Given the description of an element on the screen output the (x, y) to click on. 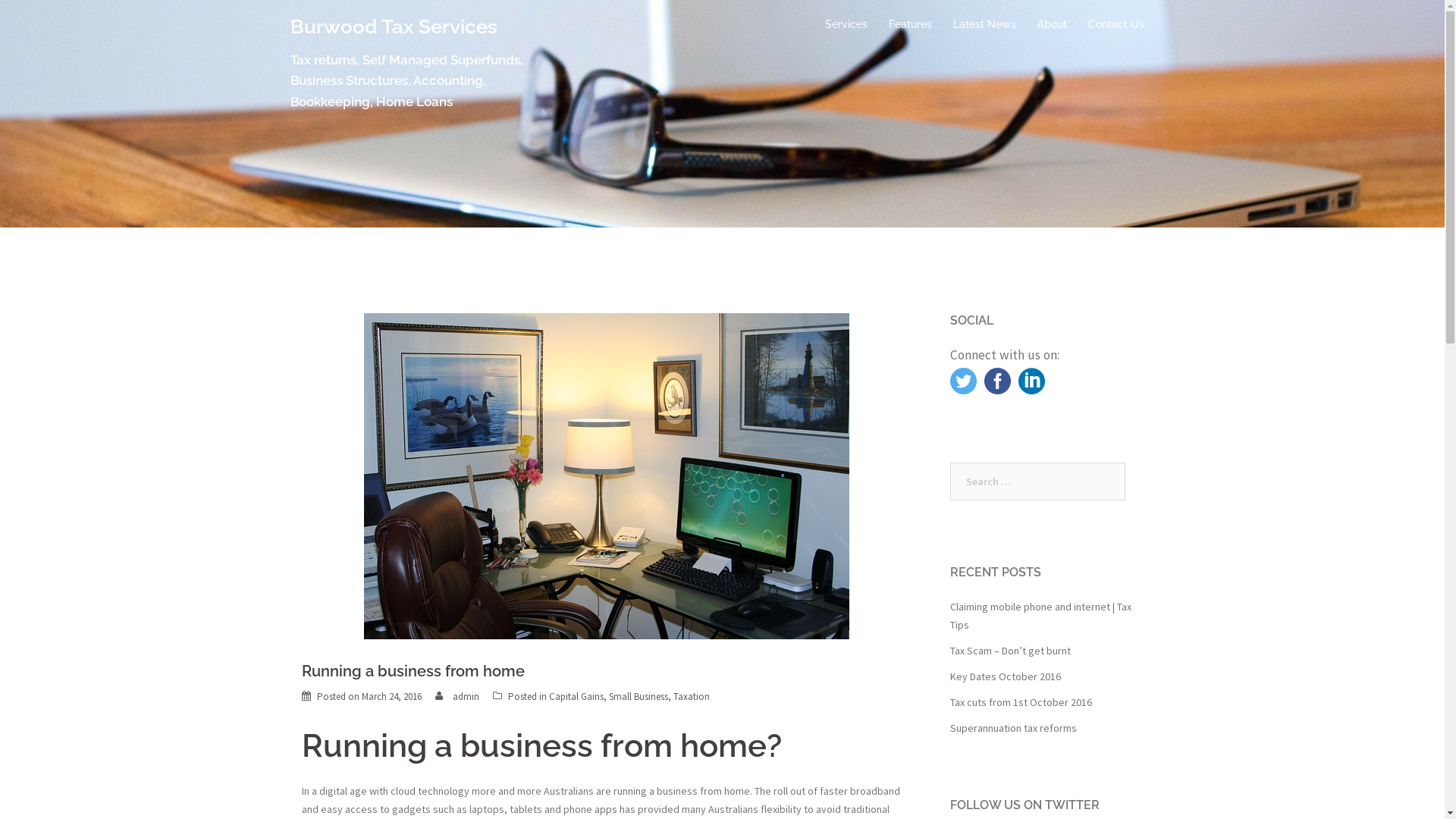
March 24, 2016 Element type: text (390, 696)
Features Element type: text (909, 24)
Latest News Element type: text (983, 24)
Claiming mobile phone and internet | Tax Tips Element type: text (1039, 615)
Services Element type: text (846, 24)
Tax cuts from 1st October 2016 Element type: text (1020, 702)
Small Business Element type: text (637, 696)
Taxation Element type: text (691, 696)
Capital Gains Element type: text (576, 696)
admin Element type: text (464, 696)
About Element type: text (1051, 24)
Skip to content Element type: text (0, 0)
Search Element type: text (46, 18)
Contact Us Element type: text (1115, 24)
Burwood Tax Services Element type: text (392, 26)
Key Dates October 2016 Element type: text (1004, 676)
Superannuation tax reforms Element type: text (1012, 727)
